Given the description of an element on the screen output the (x, y) to click on. 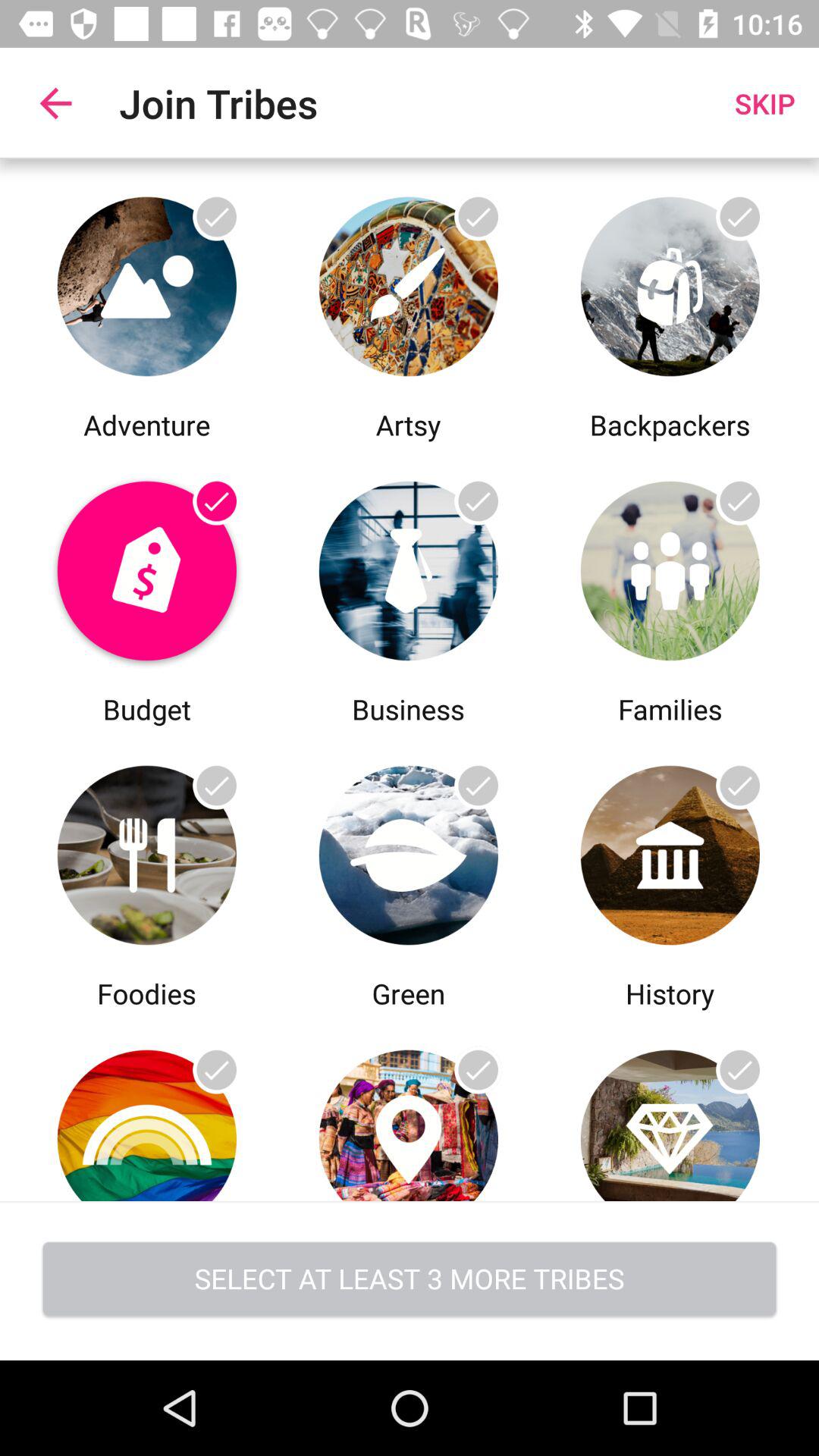
add foodies (146, 1106)
